Given the description of an element on the screen output the (x, y) to click on. 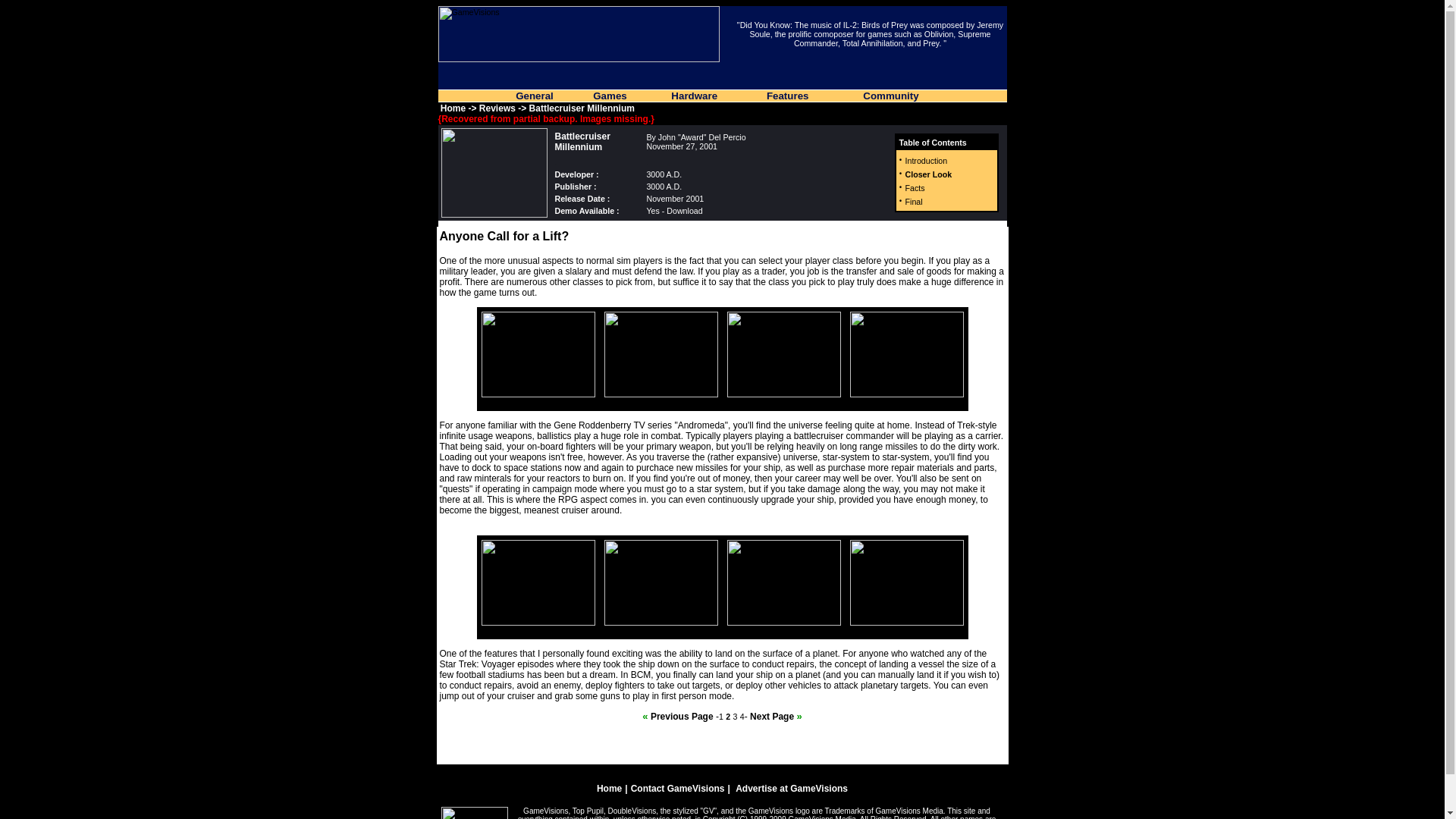
Community (890, 95)
General (534, 95)
Features (788, 95)
Hardware (694, 95)
Games (609, 95)
